Given the description of an element on the screen output the (x, y) to click on. 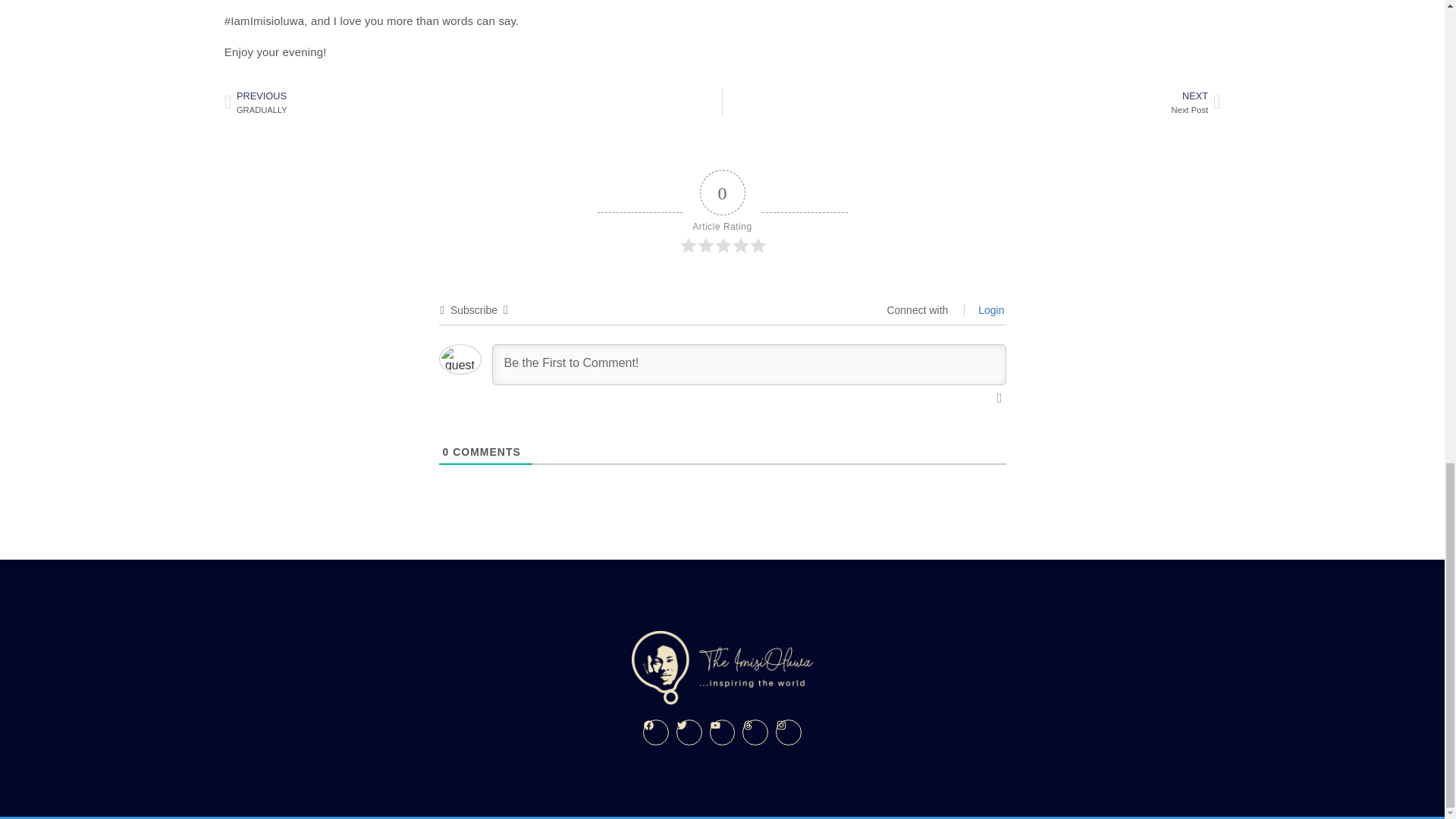
Login (989, 309)
0 (971, 102)
